Given the description of an element on the screen output the (x, y) to click on. 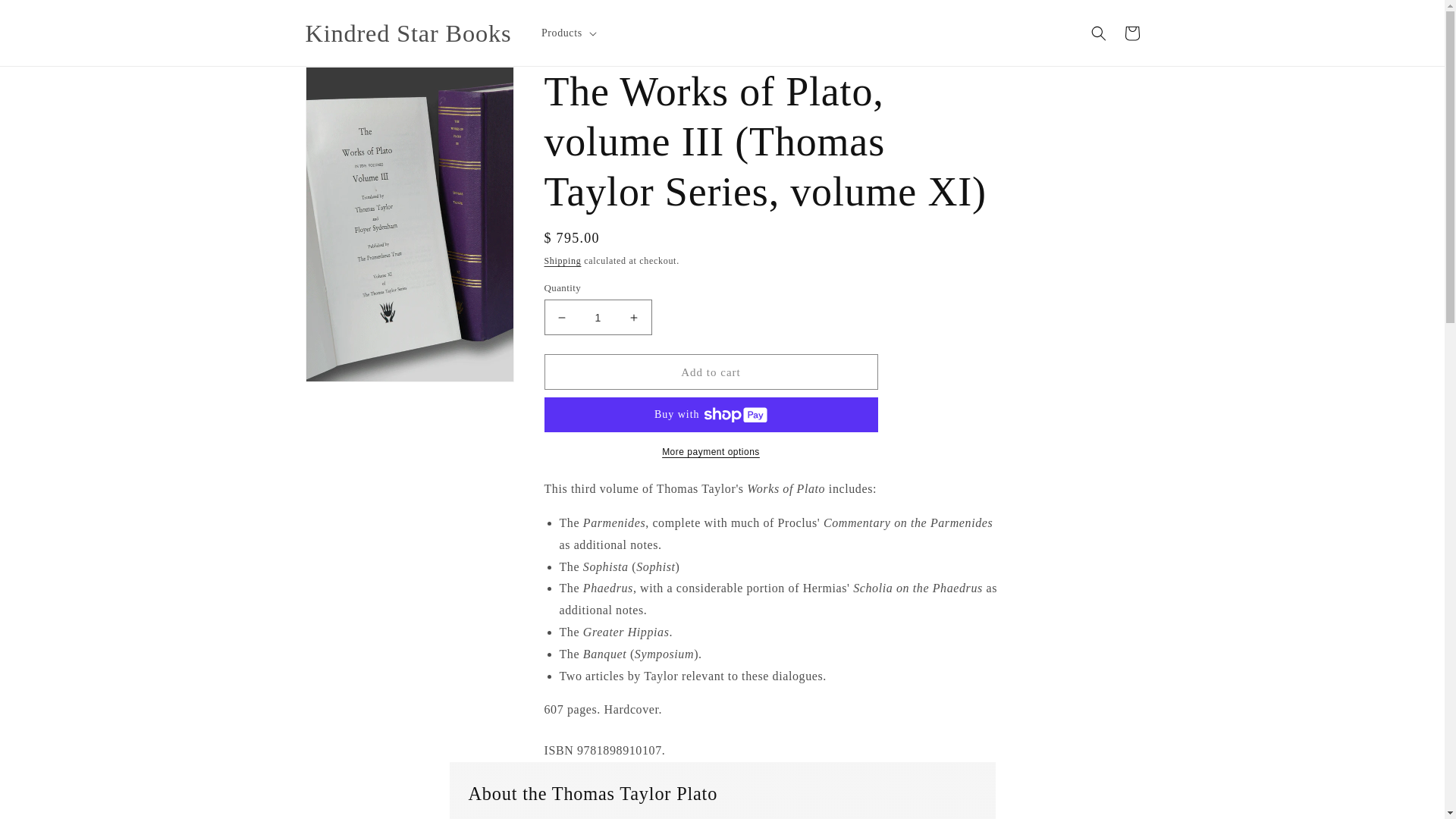
Kindred Star Books (407, 32)
Skip to product information (350, 83)
Cart (1131, 32)
More payment options (710, 451)
1 (598, 316)
Shipping (562, 260)
Skip to content (45, 17)
Add to cart (710, 371)
